Given the description of an element on the screen output the (x, y) to click on. 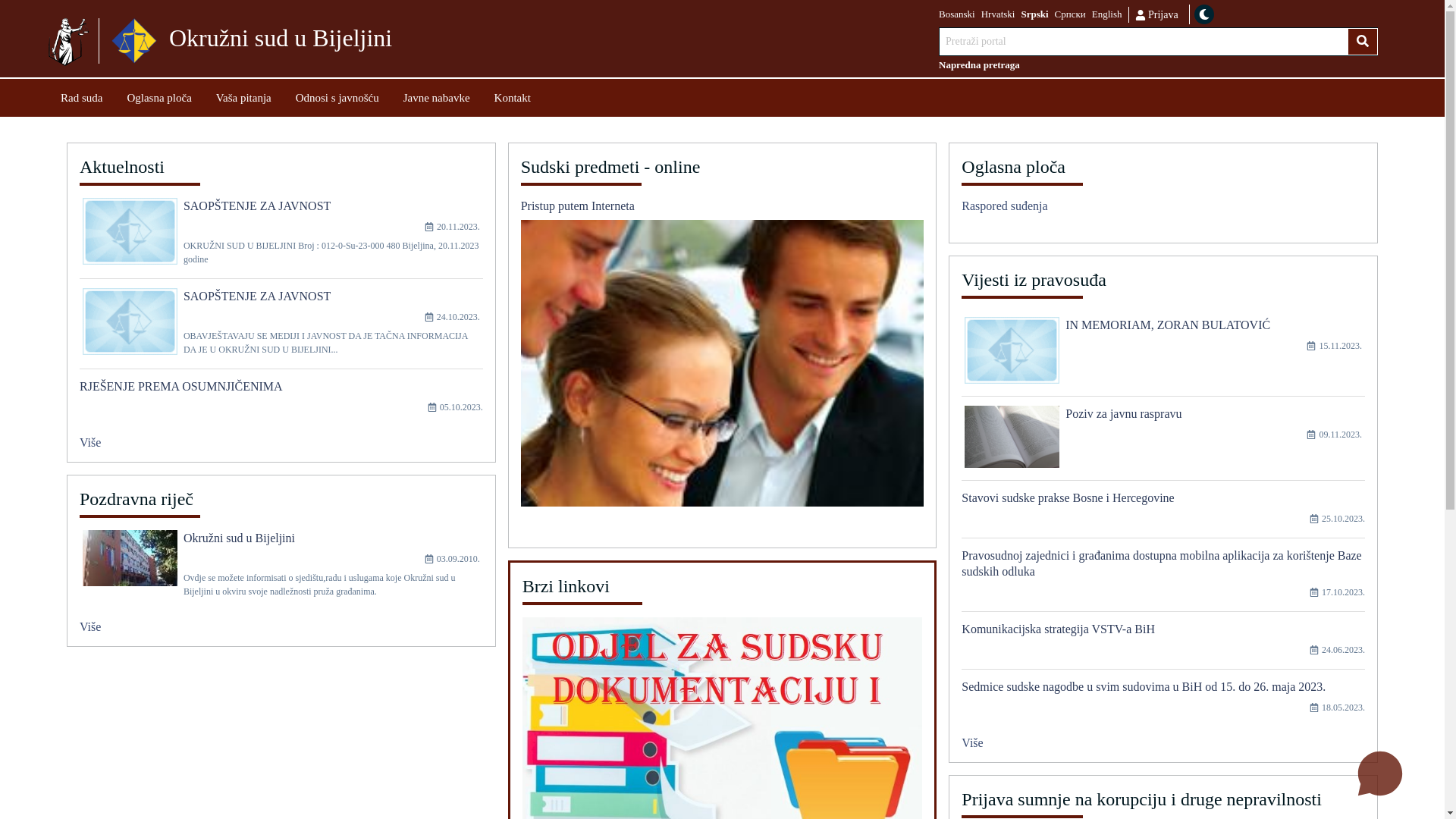
Rad suda Element type: text (81, 97)
Kontakt Element type: text (512, 97)
Komunikacijska strategija VSTV-a BiH
24.06.2023. Element type: text (1163, 645)
Javne nabavke Element type: text (436, 97)
Napredna pretraga Element type: text (1157, 65)
Pristup putem Interneta Element type: text (722, 357)
Prijava Element type: text (1155, 13)
Aktuelnosti Element type: text (281, 169)
Poziv za javnu raspravu
09.11.2023. Element type: text (1163, 442)
Stavovi sudske prakse Bosne i Hercegovine
25.10.2023. Element type: text (1163, 513)
